Given the description of an element on the screen output the (x, y) to click on. 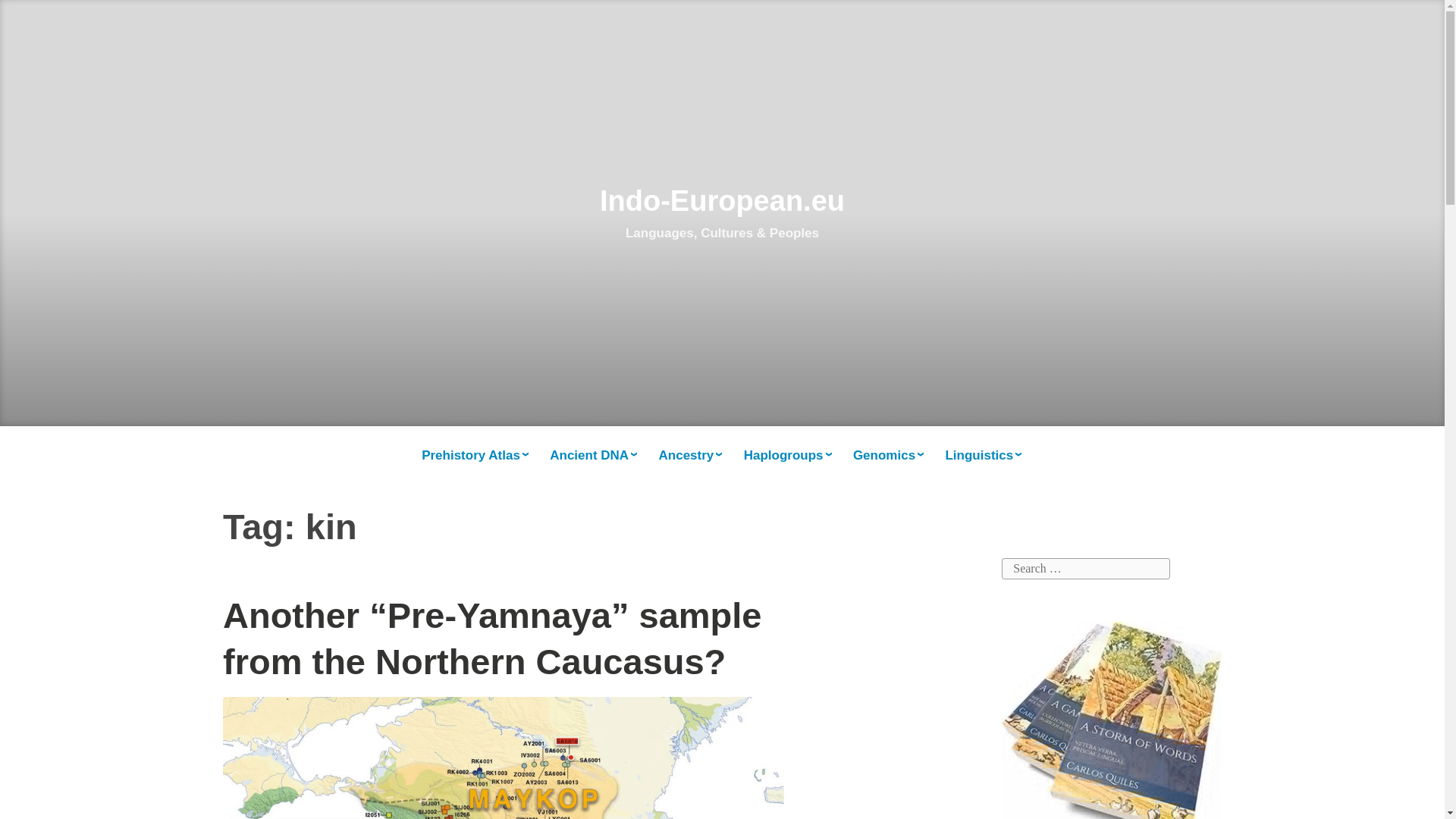
Indo-European.eu (721, 201)
Ancient DNA (594, 455)
Ancestry (691, 455)
Haplogroups (788, 455)
Prehistory Atlas (475, 455)
Maps of Prehistoric Indo-European Migrations (475, 455)
